Given the description of an element on the screen output the (x, y) to click on. 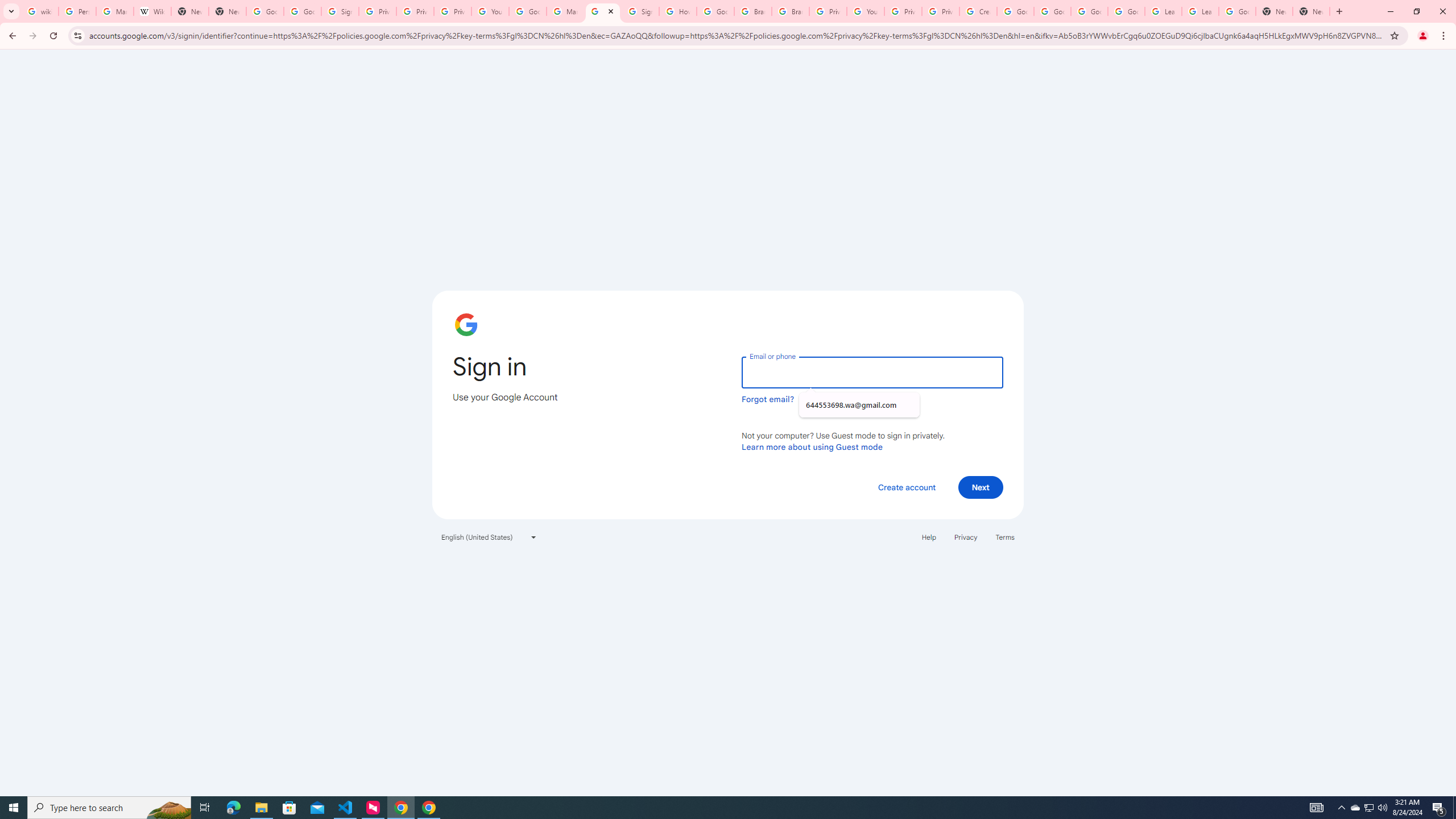
Restore (1416, 11)
YouTube (489, 11)
Personalization & Google Search results - Google Search Help (77, 11)
Email or phone (871, 372)
Brand Resource Center (790, 11)
Google Account Help (1088, 11)
YouTube (865, 11)
Create account (905, 486)
Forward (32, 35)
Forgot email? (767, 398)
Google Account Help (1015, 11)
